Given the description of an element on the screen output the (x, y) to click on. 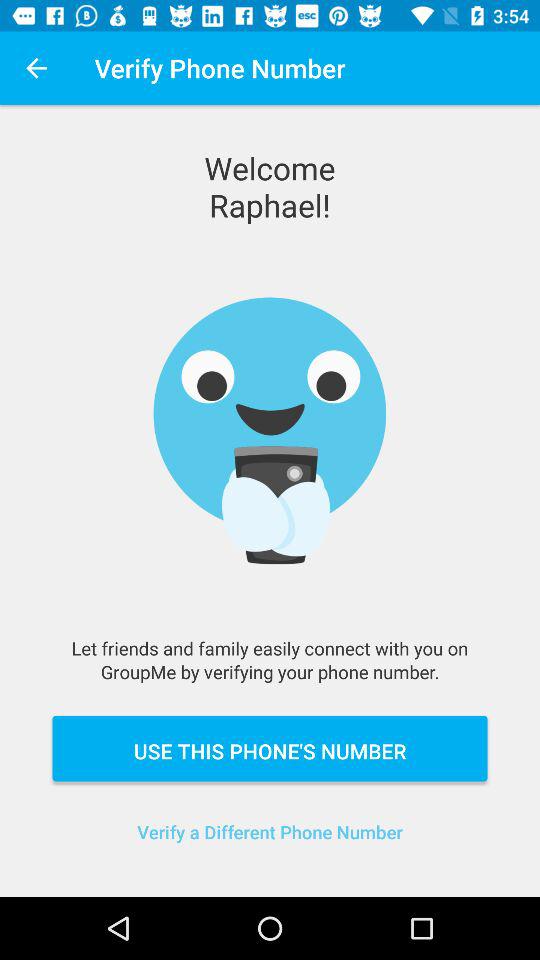
press app next to the verify phone number item (36, 68)
